Given the description of an element on the screen output the (x, y) to click on. 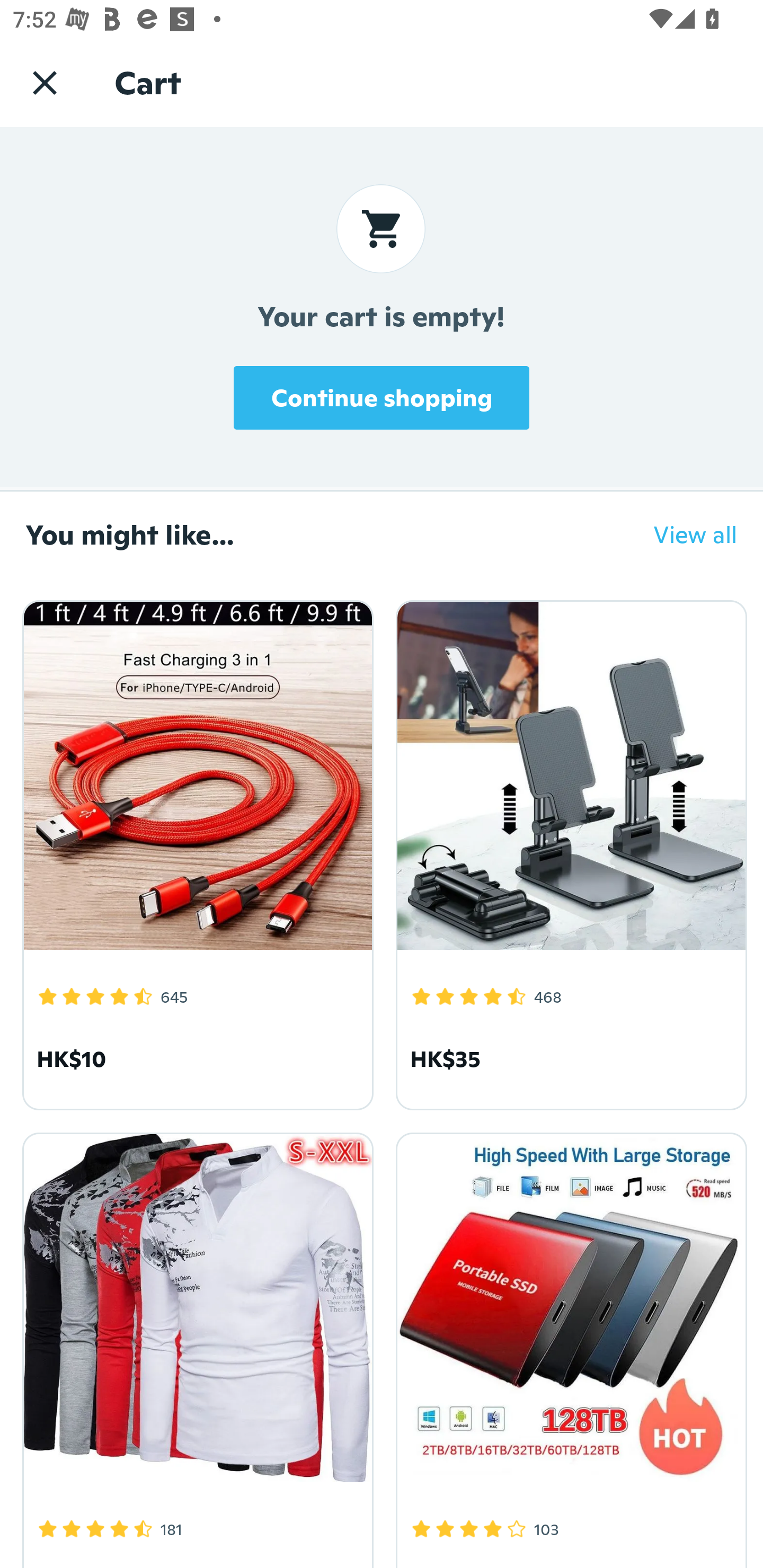
Navigate up (44, 82)
Continue shopping (381, 397)
View all (682, 534)
4.5 Star Rating 645 HK$10 (194, 852)
4.4 Star Rating 468 HK$35 (567, 852)
4.3 Star Rating 181 (194, 1346)
3.9 Star Rating 103 (567, 1346)
